Given the description of an element on the screen output the (x, y) to click on. 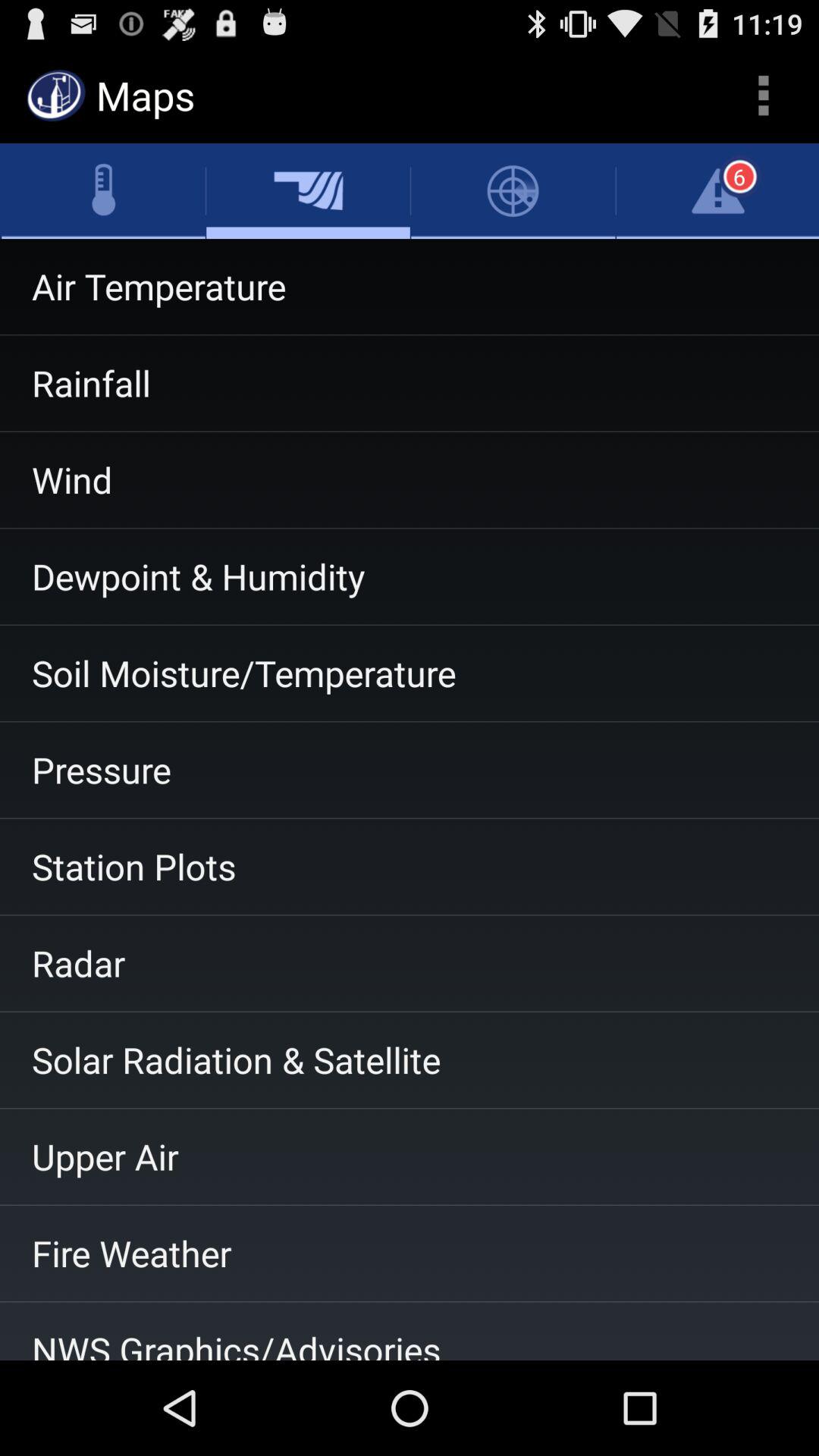
swipe to nws graphics/advisories (409, 1331)
